Given the description of an element on the screen output the (x, y) to click on. 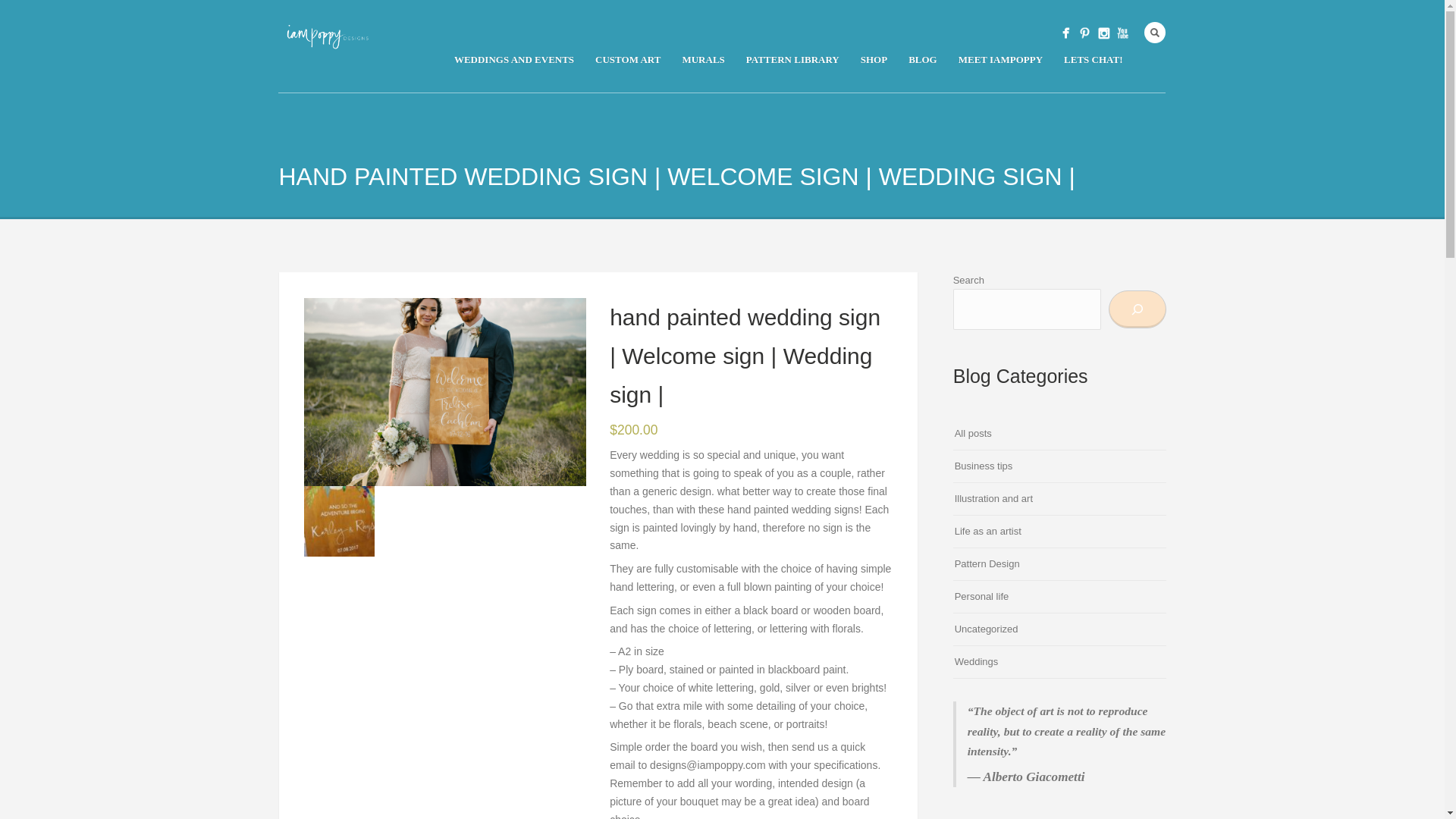
SHOP (874, 59)
iampoppy Designs (1103, 32)
WEDDINGS AND EVENTS (514, 59)
MEET IAMPOPPY (999, 59)
LETS CHAT! (1092, 59)
iampoppy (1084, 32)
iampoppy Designs (1066, 32)
iampoppy Designs (1122, 32)
Search (1155, 32)
CUSTOM ART (628, 59)
PATTERN LIBRARY (792, 59)
MURALS (703, 59)
Wedding Photography (445, 392)
BLOG (922, 59)
